Given the description of an element on the screen output the (x, y) to click on. 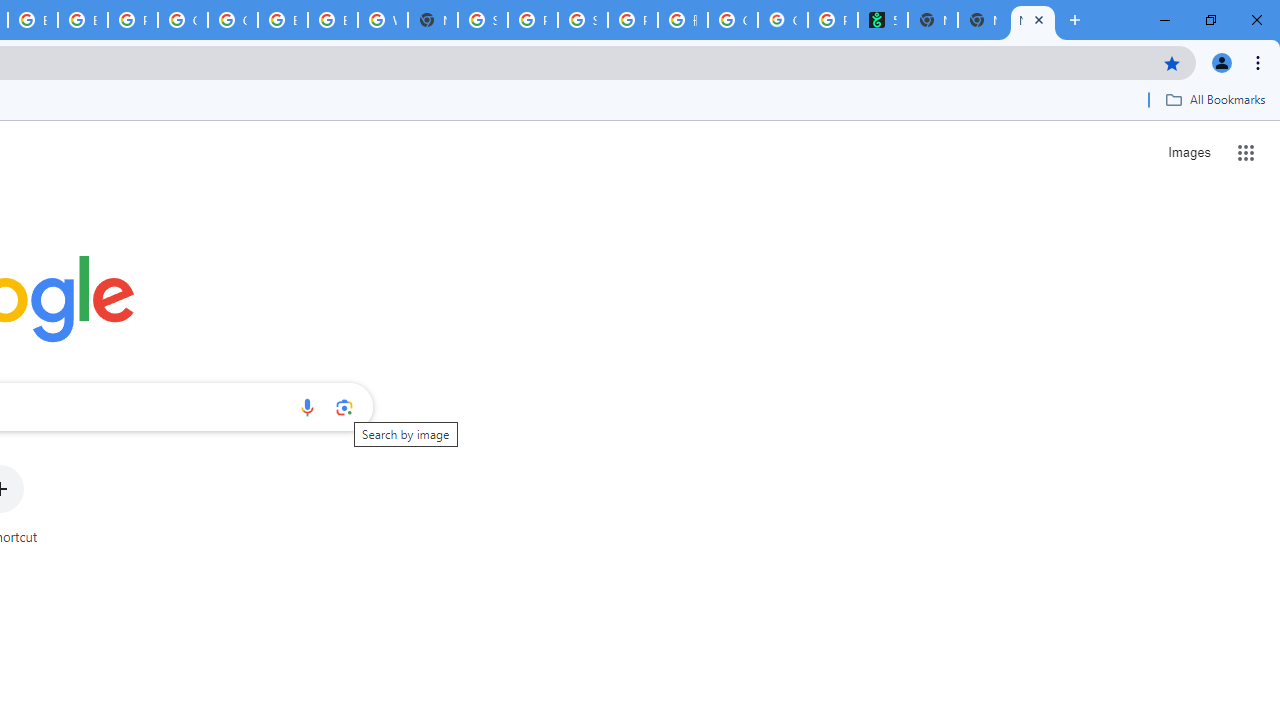
All Bookmarks (1215, 99)
New Tab (982, 20)
Sign in - Google Accounts (483, 20)
Search by image (344, 407)
Browse Chrome as a guest - Computer - Google Chrome Help (283, 20)
Google Cloud Platform (182, 20)
